Given the description of an element on the screen output the (x, y) to click on. 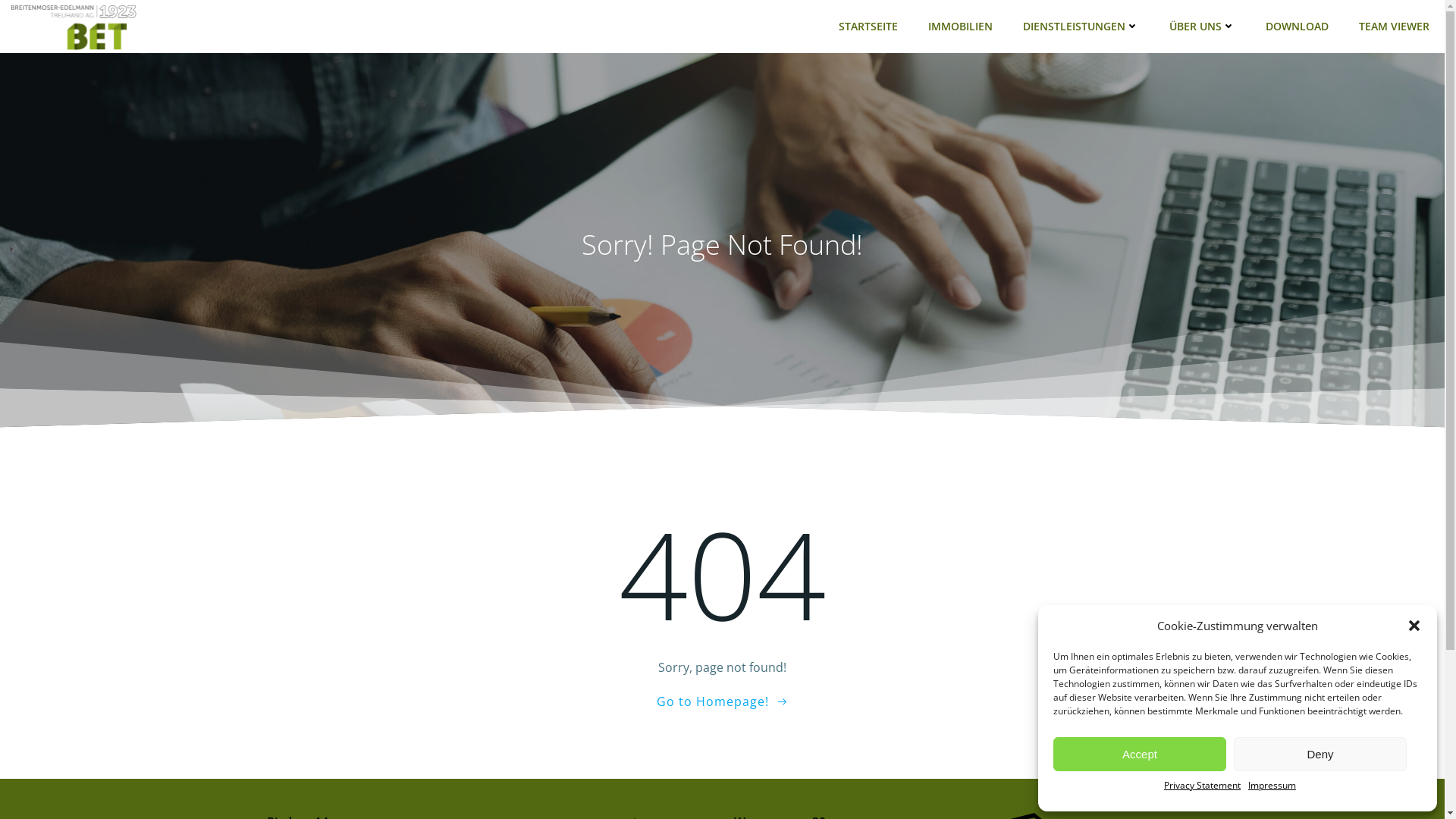
Deny Element type: text (1319, 754)
IMMOBILIEN Element type: text (960, 26)
TEAM VIEWER Element type: text (1393, 26)
STARTSEITE Element type: text (867, 26)
Accept Element type: text (1139, 754)
Impressum Element type: text (1271, 785)
Go to Homepage! Element type: text (722, 701)
DIENSTLEISTUNGEN Element type: text (1080, 26)
Privacy Statement Element type: text (1202, 785)
DOWNLOAD Element type: text (1296, 26)
